Given the description of an element on the screen output the (x, y) to click on. 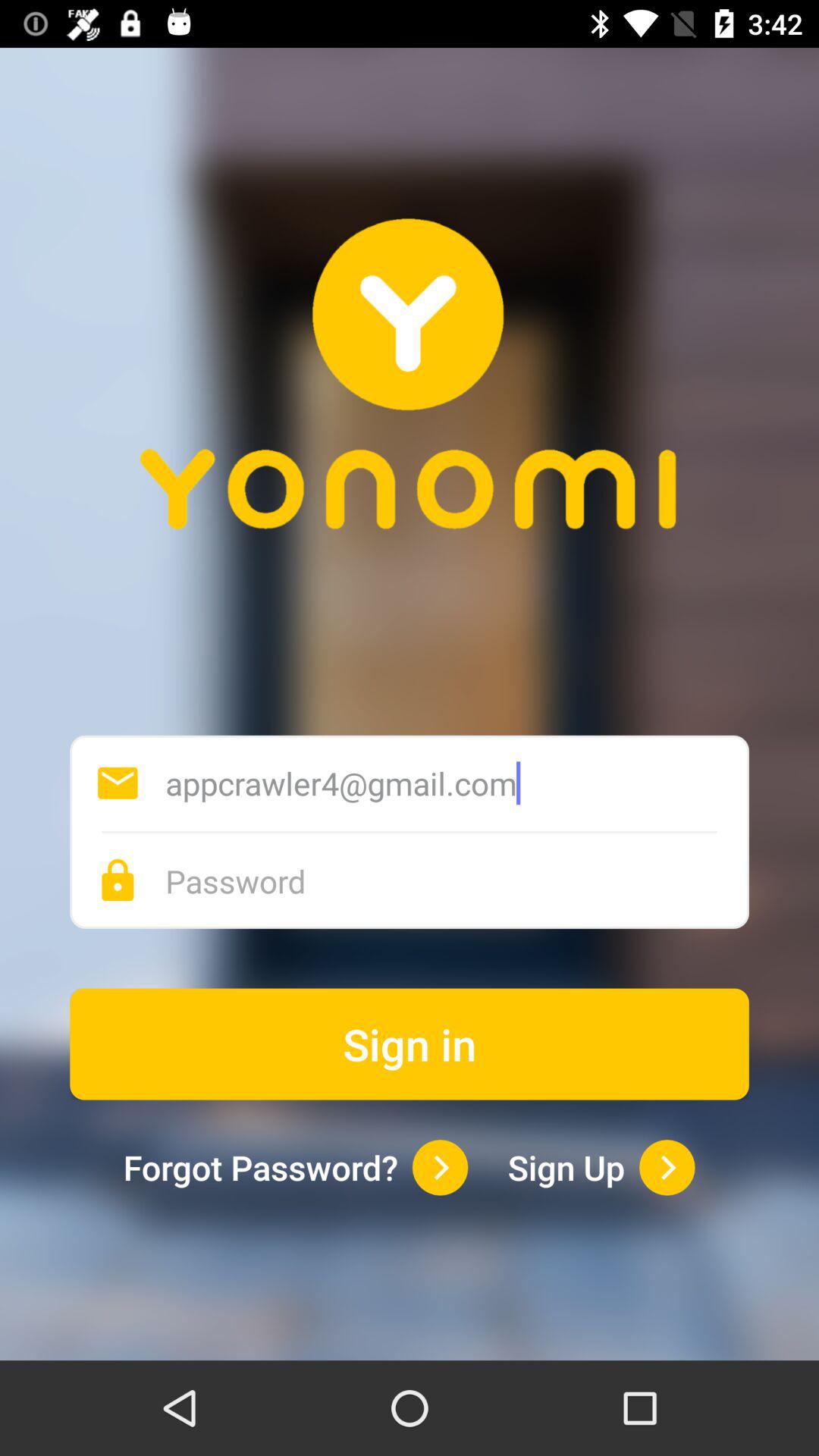
go to sign up page (667, 1167)
